Given the description of an element on the screen output the (x, y) to click on. 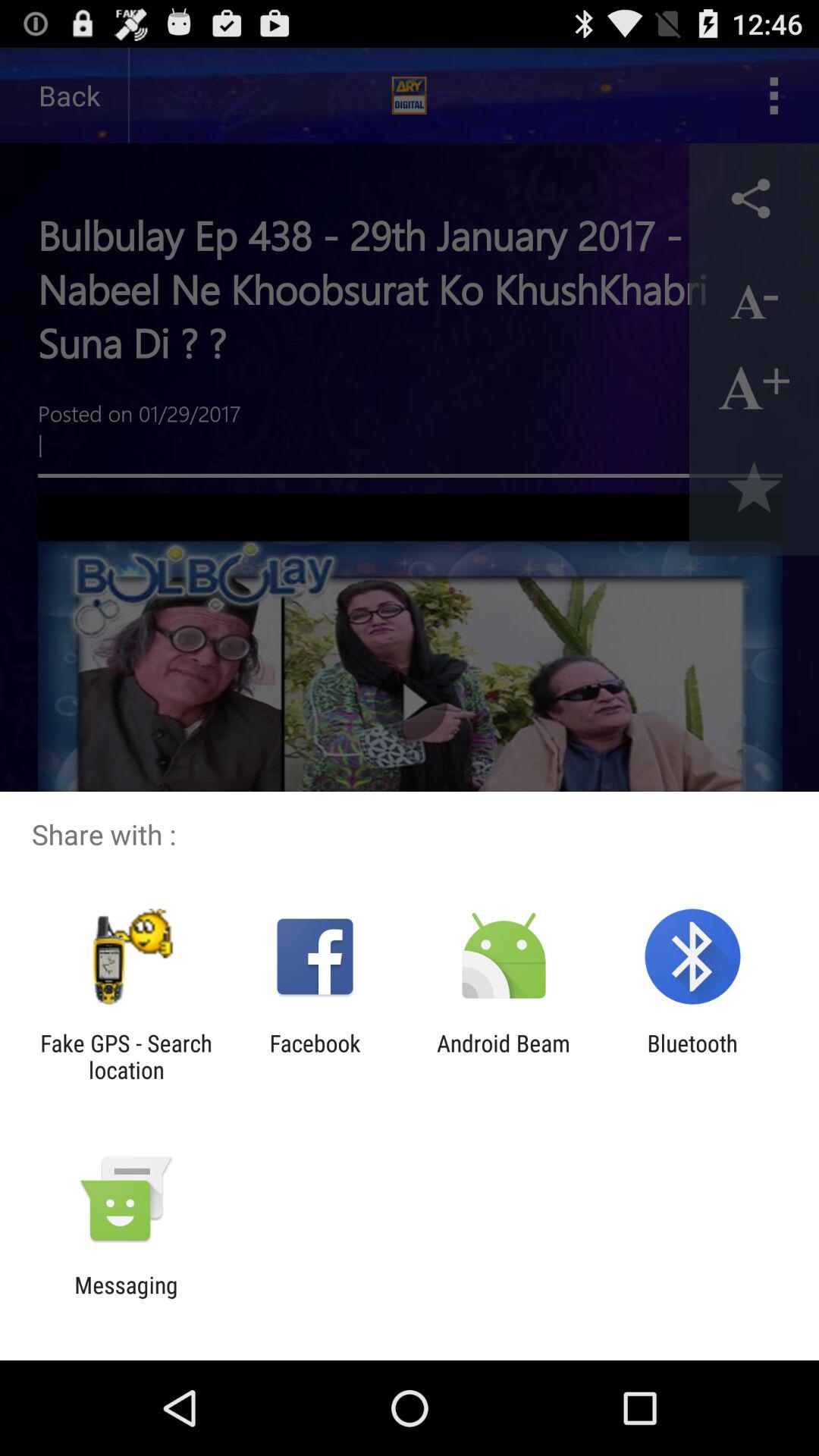
select app to the right of android beam item (692, 1056)
